Given the description of an element on the screen output the (x, y) to click on. 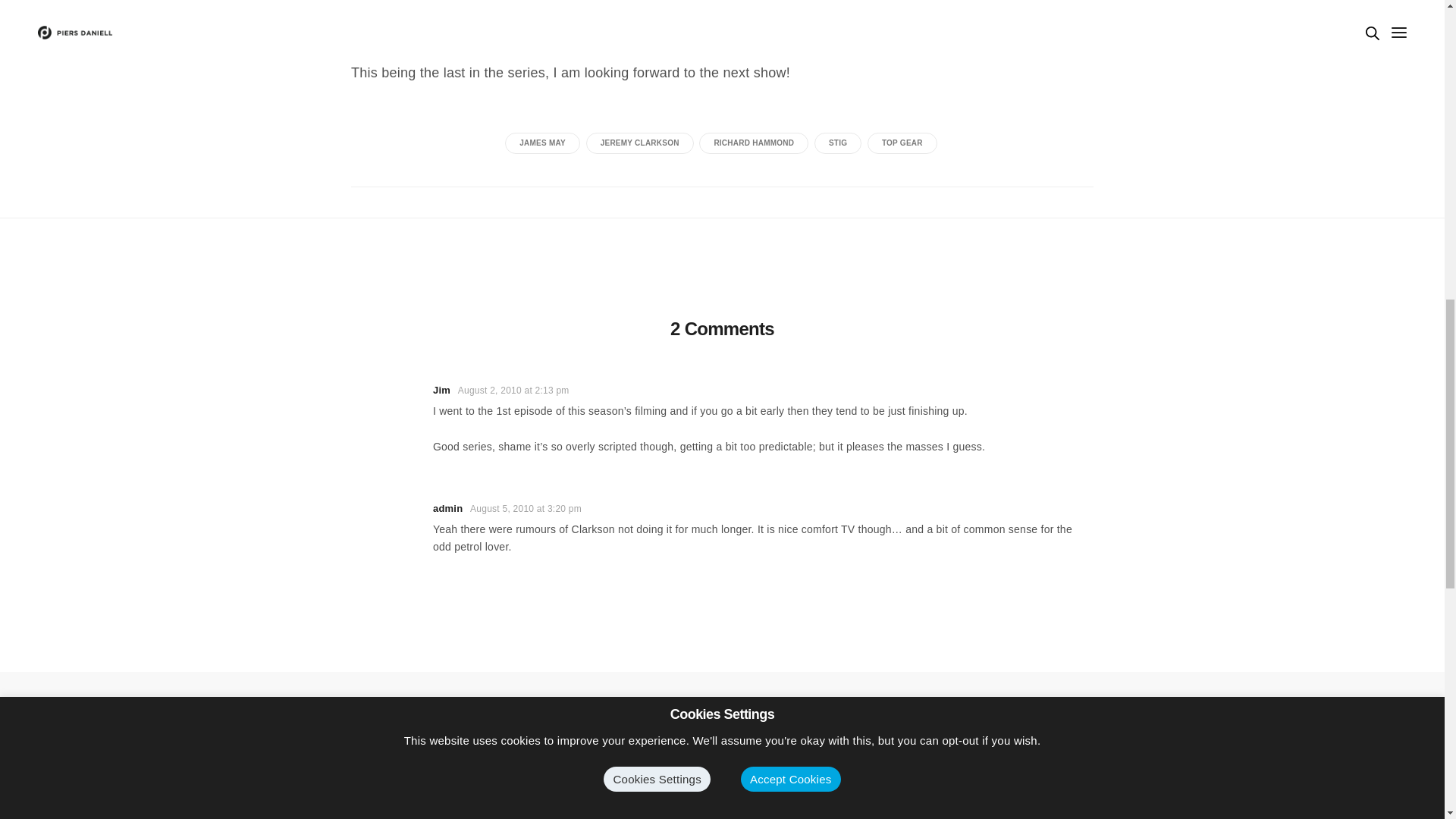
TOP GEAR (902, 142)
RICHARD HAMMOND (753, 142)
JEREMY CLARKSON (640, 142)
August 2, 2010 at 2:13 pm (513, 389)
STIG (837, 142)
August 5, 2010 at 3:20 pm (525, 508)
admin (447, 508)
JAMES MAY (542, 142)
